Given the description of an element on the screen output the (x, y) to click on. 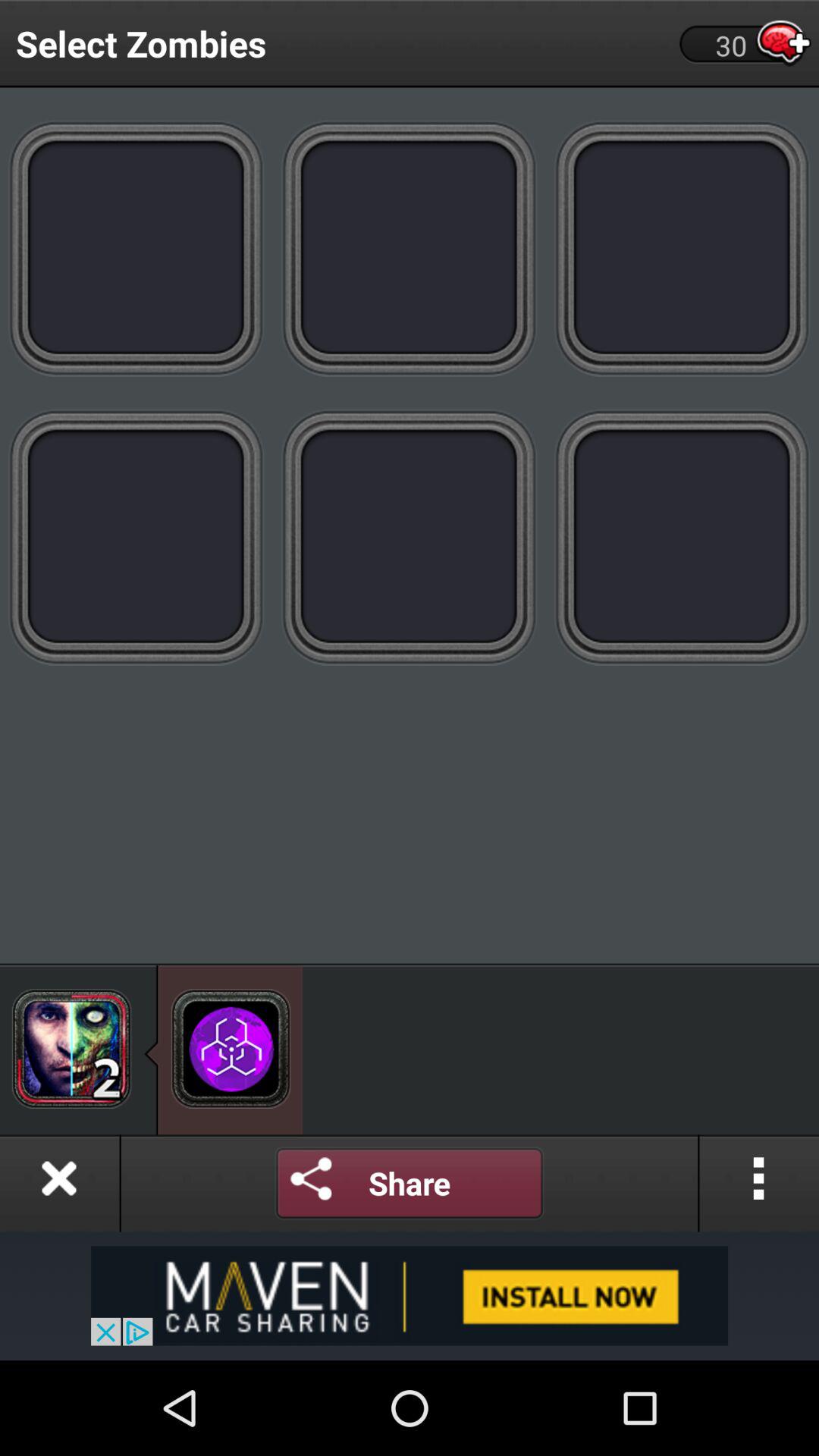
select the character (71, 1048)
